Given the description of an element on the screen output the (x, y) to click on. 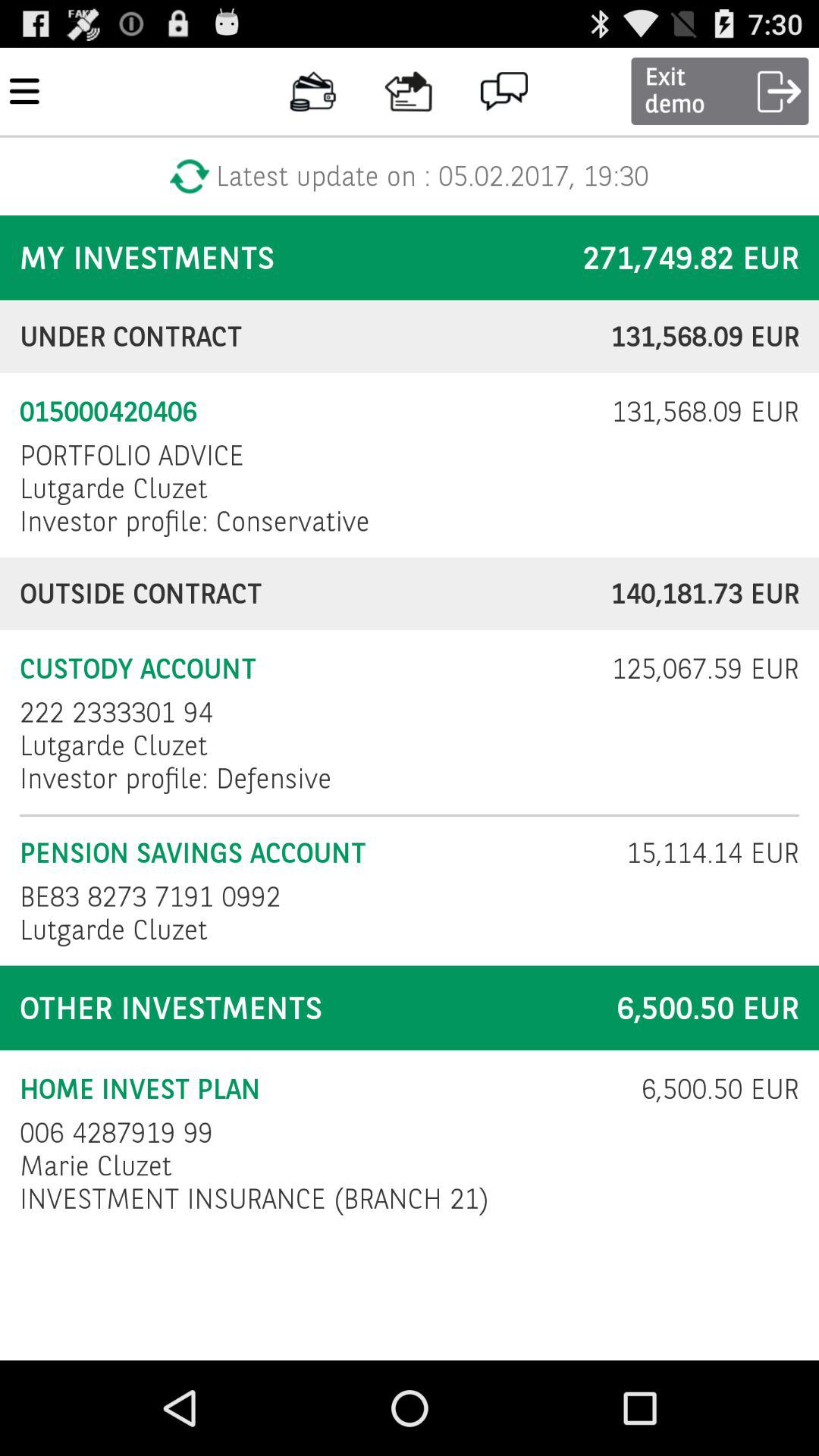
press checkbox to the left of 131 568 09 checkbox (305, 411)
